Given the description of an element on the screen output the (x, y) to click on. 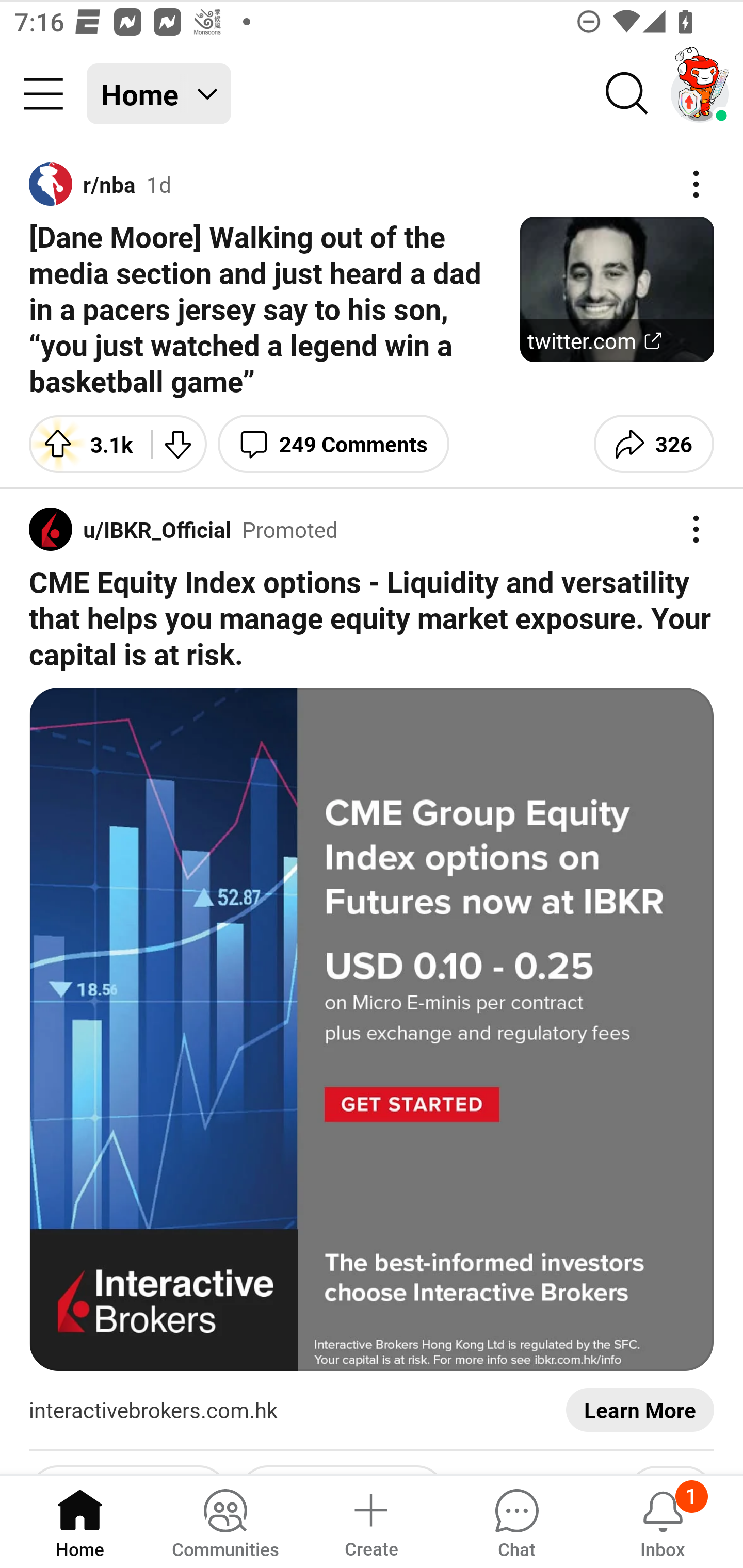
Community menu (43, 93)
Home Home feed (158, 93)
Search (626, 93)
TestAppium002 account (699, 93)
Home (80, 1520)
Communities (225, 1520)
Create a post Create (370, 1520)
Chat (516, 1520)
Inbox, has 1 notification 1 Inbox (662, 1520)
